Given the description of an element on the screen output the (x, y) to click on. 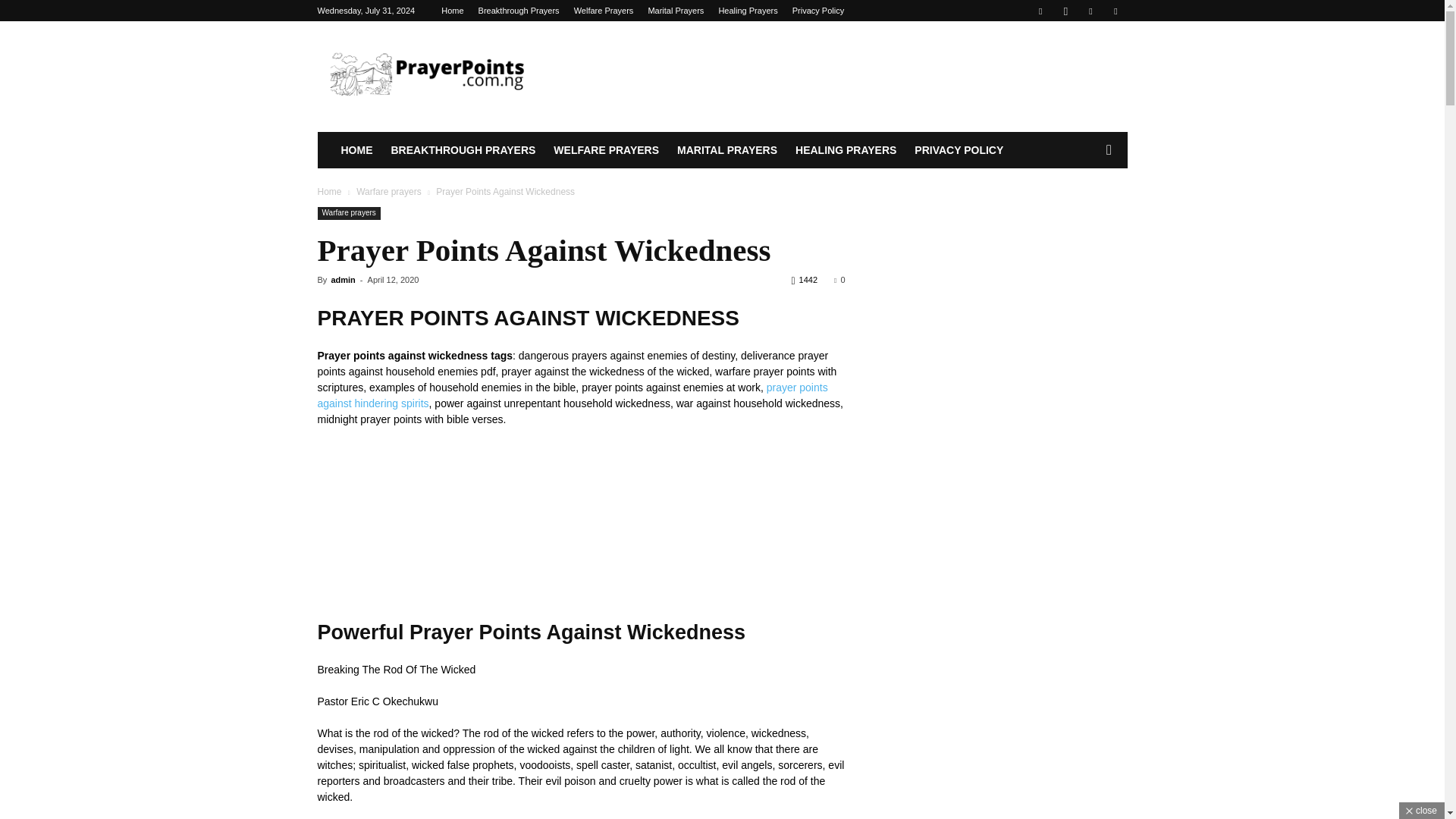
Home (452, 10)
Breakthrough Prayers (519, 10)
Marital Prayers (675, 10)
Welfare Prayers (603, 10)
